Given the description of an element on the screen output the (x, y) to click on. 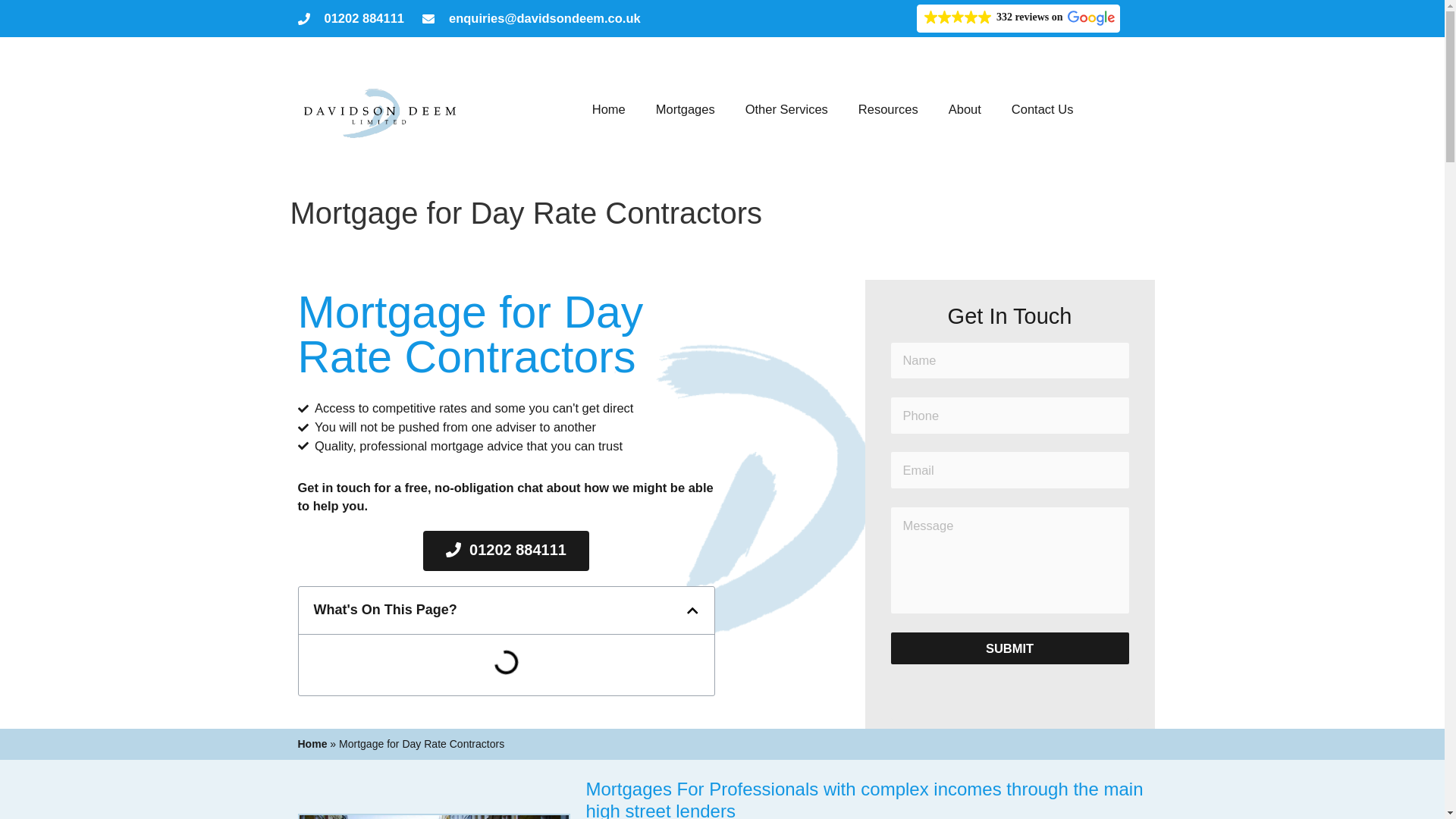
332 reviews on (1018, 18)
Resources (888, 108)
Mortgages (685, 108)
01202 884111 (350, 18)
Other Services (786, 108)
Home (608, 108)
About (964, 108)
